Given the description of an element on the screen output the (x, y) to click on. 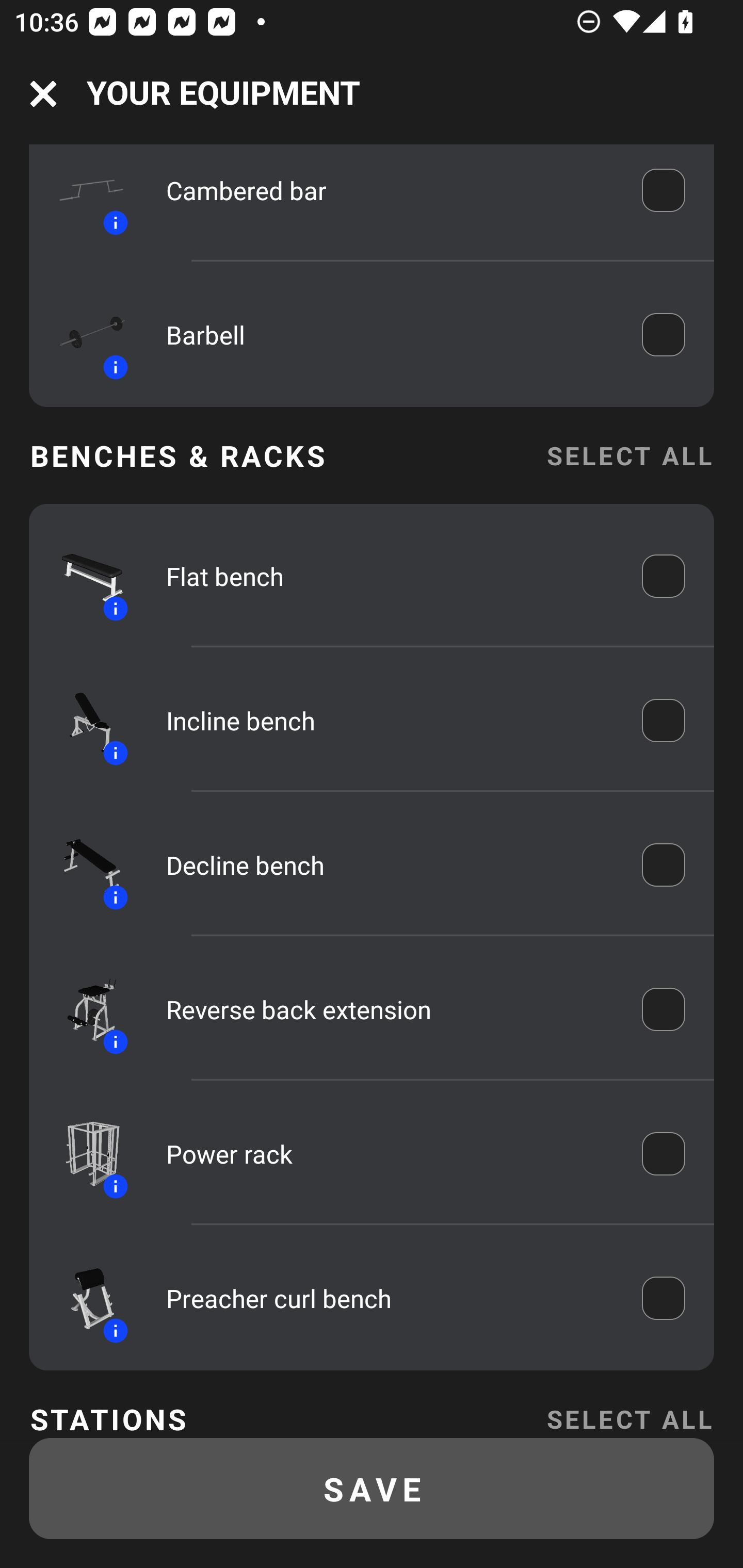
Navigation icon (43, 93)
Equipment icon Information icon (82, 194)
Cambered bar (389, 190)
Equipment icon Information icon (82, 334)
Barbell (389, 334)
SELECT ALL (629, 455)
Equipment icon Information icon (82, 576)
Flat bench (389, 576)
Equipment icon Information icon (82, 720)
Incline bench (389, 720)
Equipment icon Information icon (82, 864)
Decline bench (389, 864)
Equipment icon Information icon (82, 1008)
Reverse back extension (389, 1008)
Equipment icon Information icon (82, 1153)
Power rack (389, 1153)
Equipment icon Information icon (82, 1297)
Preacher curl bench (389, 1298)
SELECT ALL (629, 1406)
SAVE (371, 1488)
